Given the description of an element on the screen output the (x, y) to click on. 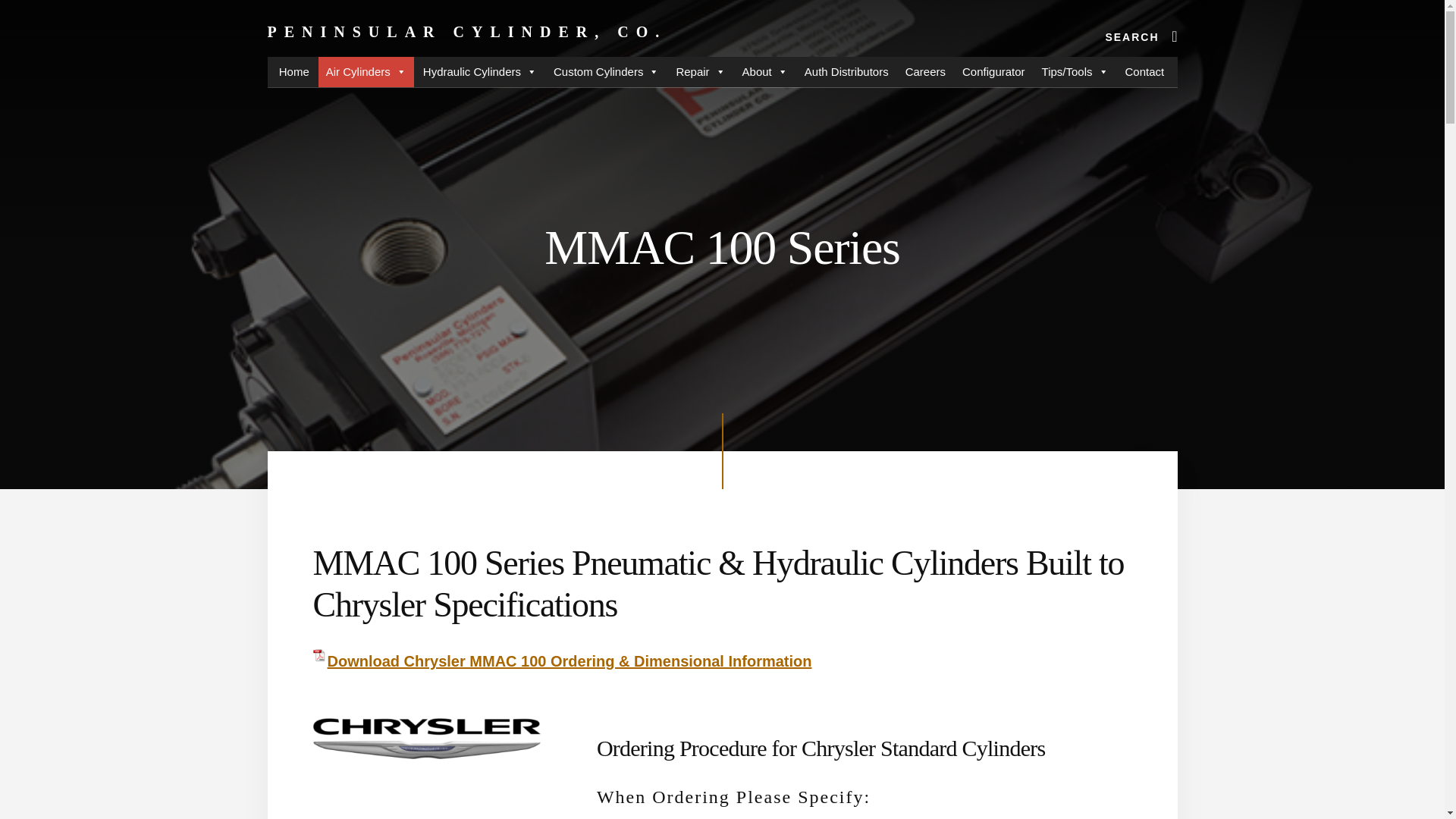
logo-chrysler (426, 735)
Hydraulic Cylinders (479, 71)
Home (293, 71)
PENINSULAR CYLINDER, CO. (466, 31)
Air Cylinders (365, 71)
Custom Cylinders (606, 71)
